Given the description of an element on the screen output the (x, y) to click on. 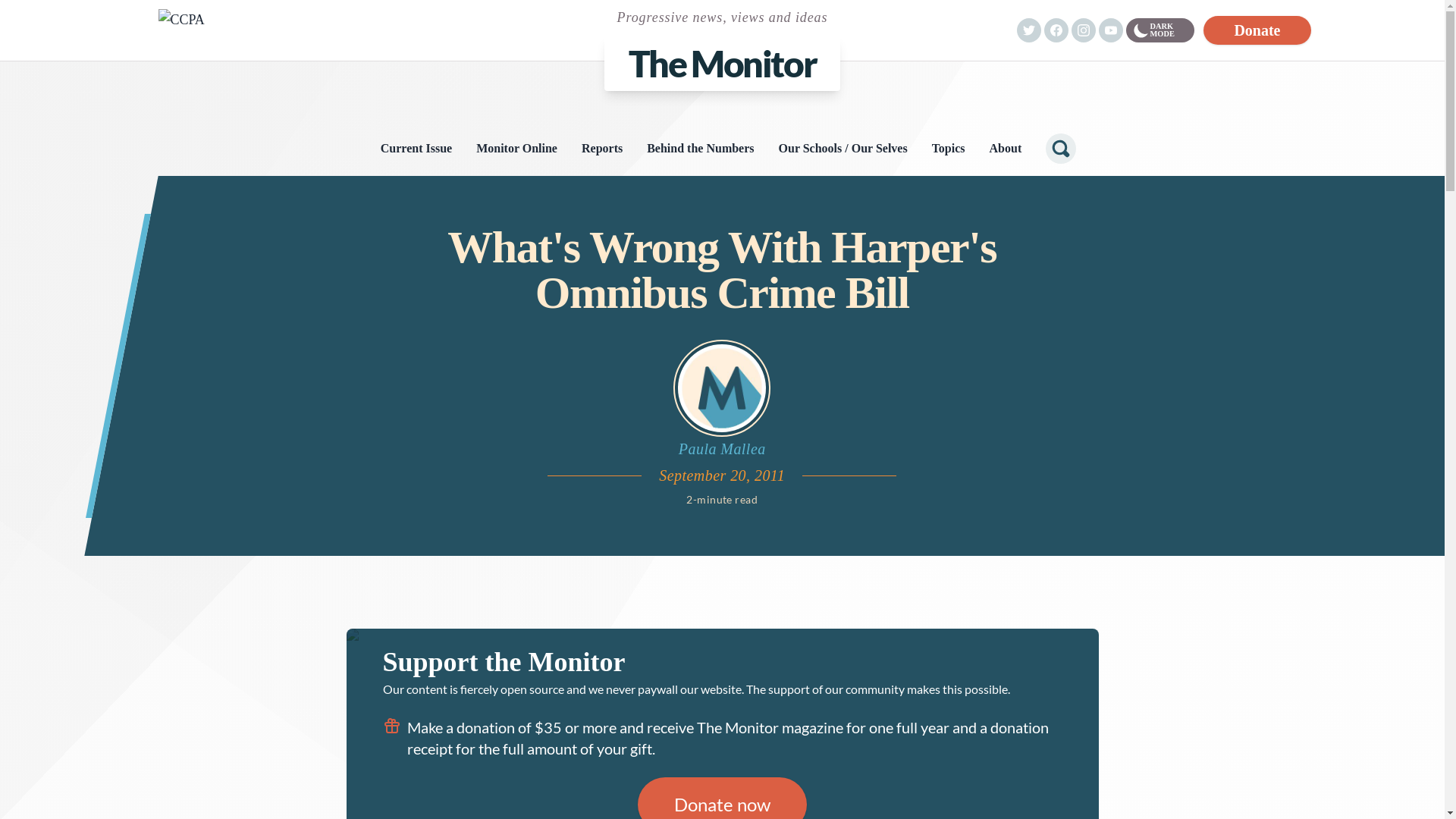
Donate Element type: text (1256, 29)
Paula Mallea Element type: text (721, 398)
DARK MODE Element type: text (1159, 30)
Our Schools / Our Selves Element type: text (842, 148)
Current Issue Element type: text (416, 148)
Topics Element type: text (948, 148)
Reports Element type: text (601, 148)
About Element type: text (1005, 148)
Behind the Numbers Element type: text (699, 148)
Monitor Online Element type: text (516, 148)
The Monitor Element type: text (722, 63)
Twitter Element type: hover (1028, 30)
